Given the description of an element on the screen output the (x, y) to click on. 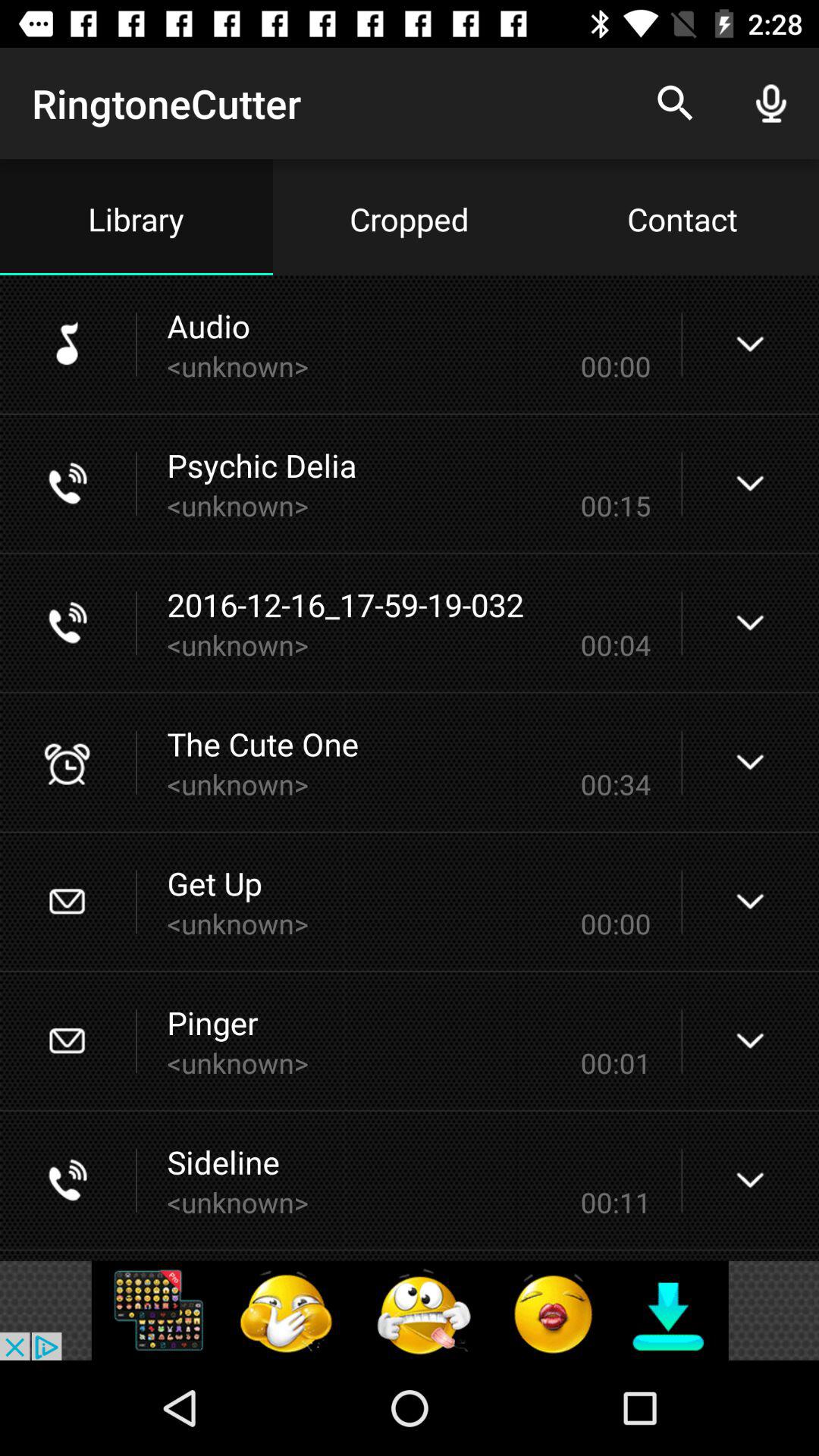
click on drop down option right to psychic delia (750, 483)
click on call icon which is to the left of sideline (67, 1180)
click on the mic icon (771, 103)
click on third audio from the top (409, 623)
click on the cropped text right to library (409, 218)
